Given the description of an element on the screen output the (x, y) to click on. 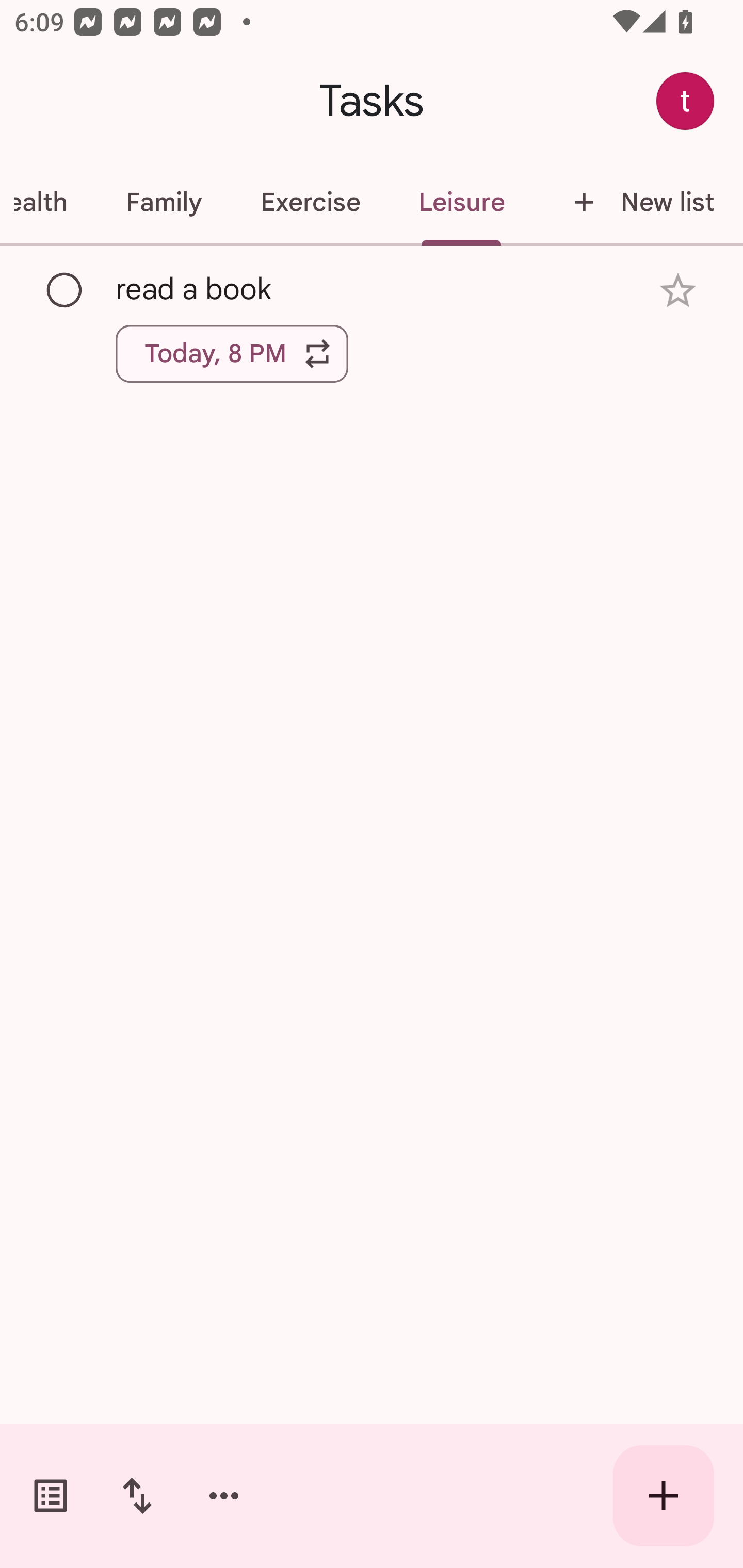
Family (163, 202)
Exercise (310, 202)
New list (638, 202)
Add star (677, 290)
Mark as complete (64, 290)
Today, 8 PM (231, 353)
Switch task lists (50, 1495)
Create new task (663, 1495)
Change sort order (136, 1495)
More options (223, 1495)
